Given the description of an element on the screen output the (x, y) to click on. 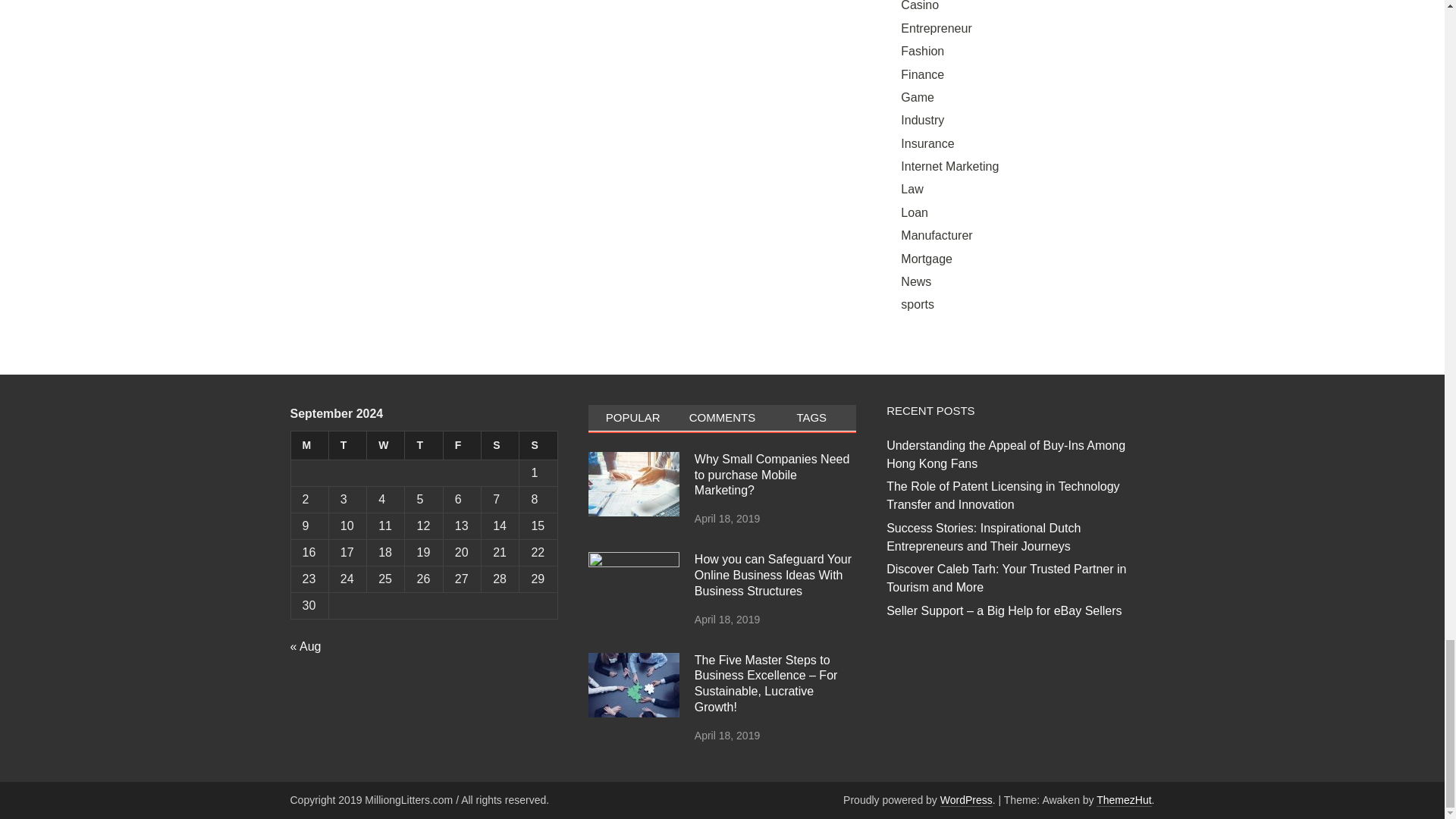
Tuesday (347, 445)
Wednesday (385, 445)
Friday (461, 445)
Monday (309, 445)
Sunday (538, 445)
Thursday (423, 445)
Saturday (500, 445)
